Given the description of an element on the screen output the (x, y) to click on. 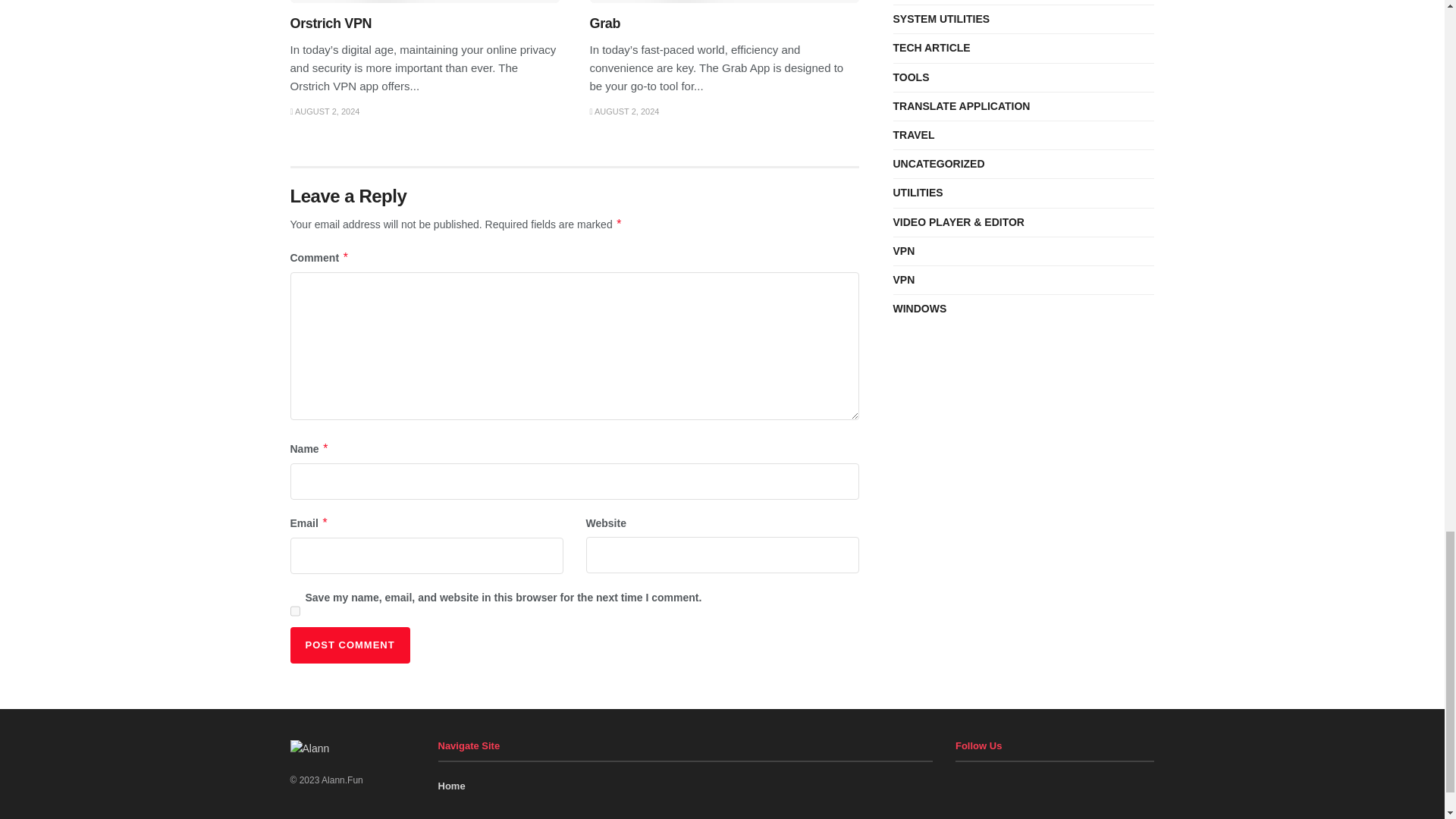
Post Comment (349, 645)
